Given the description of an element on the screen output the (x, y) to click on. 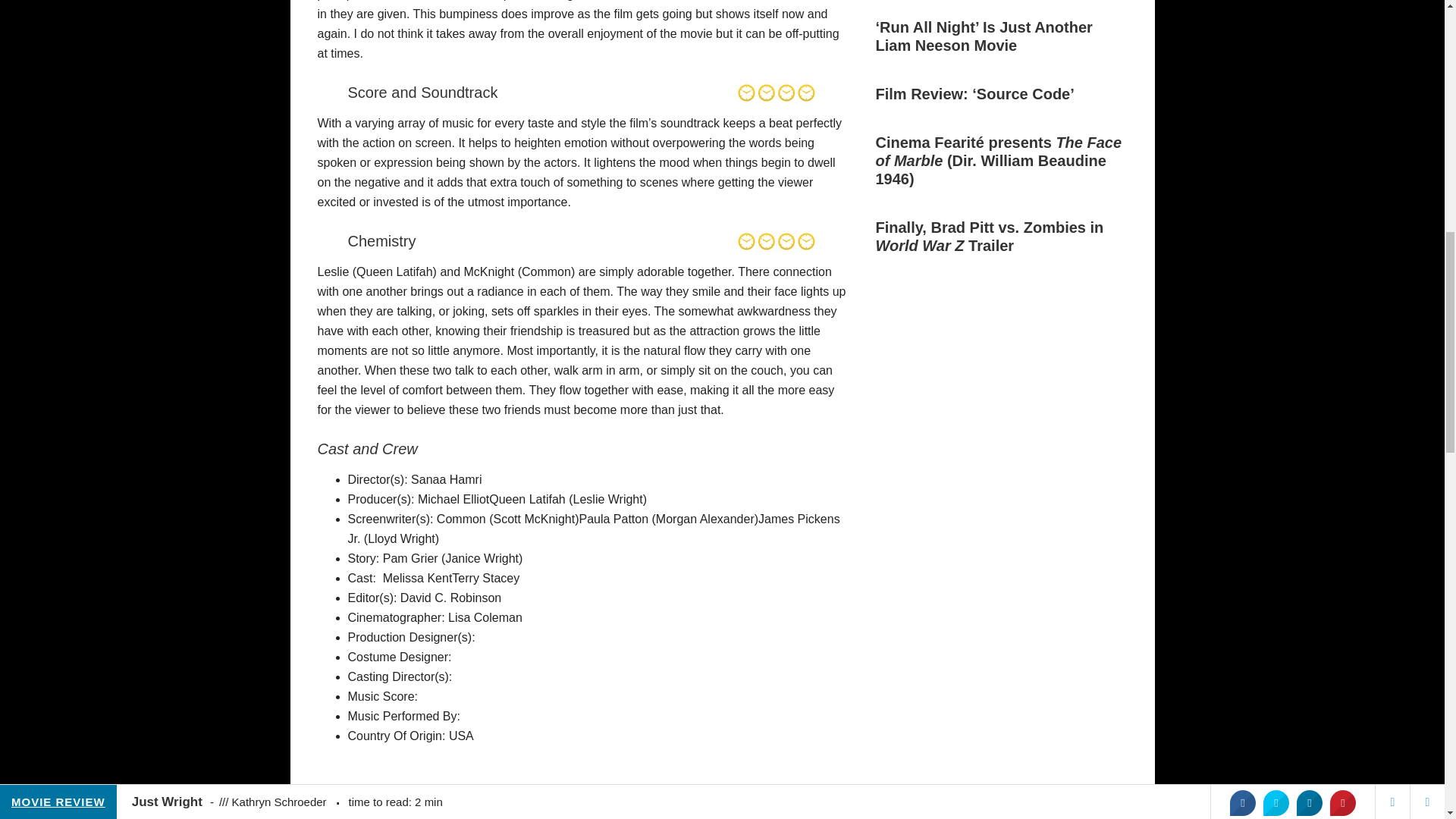
MOVIE REVIEW (415, 811)
Finally, Brad Pitt vs. Zombies in World War Z Trailer (989, 236)
